Given the description of an element on the screen output the (x, y) to click on. 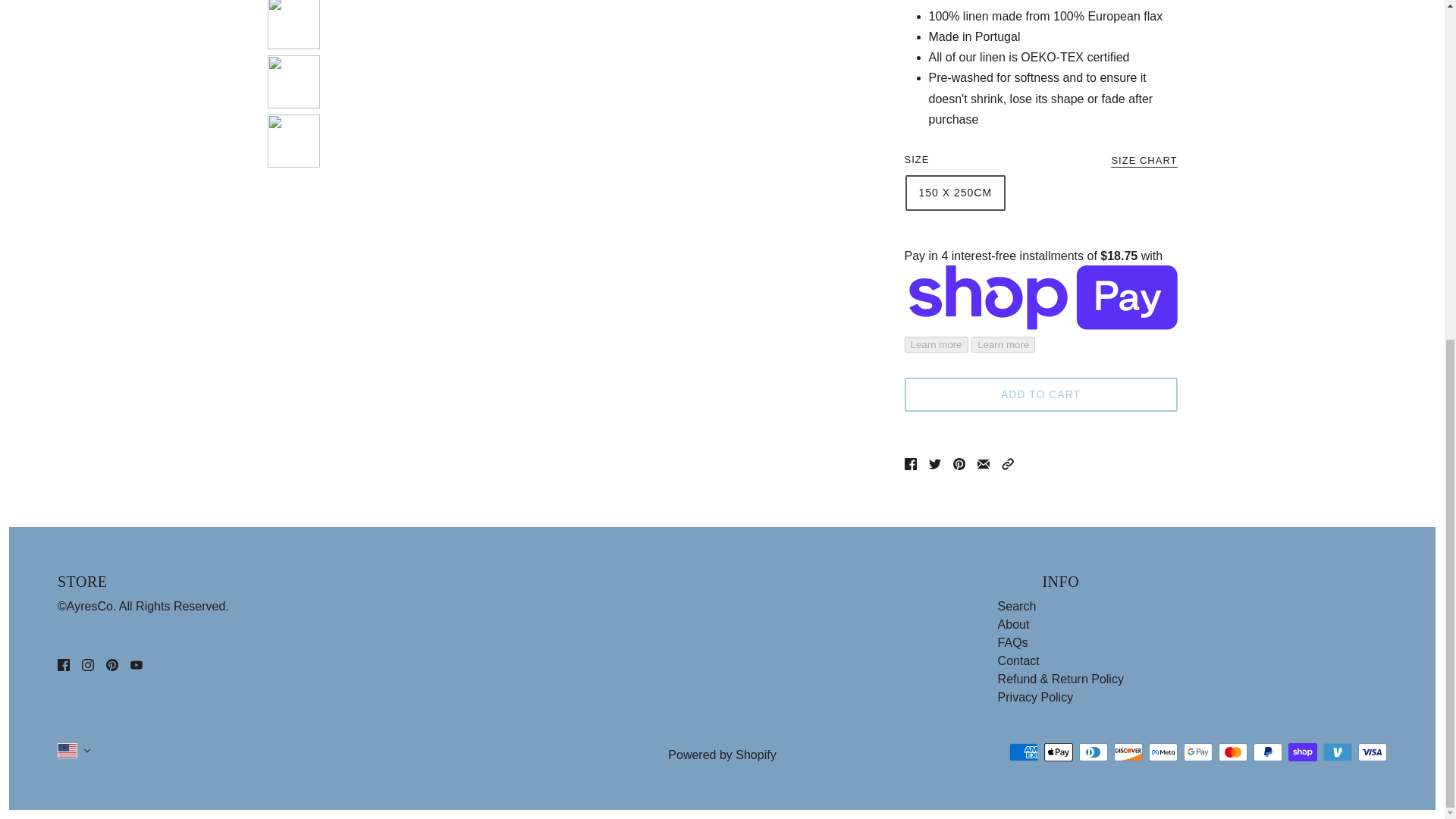
Privacy Policy (1035, 697)
Contact (1018, 660)
About (1013, 624)
FAQs (1012, 642)
